Given the description of an element on the screen output the (x, y) to click on. 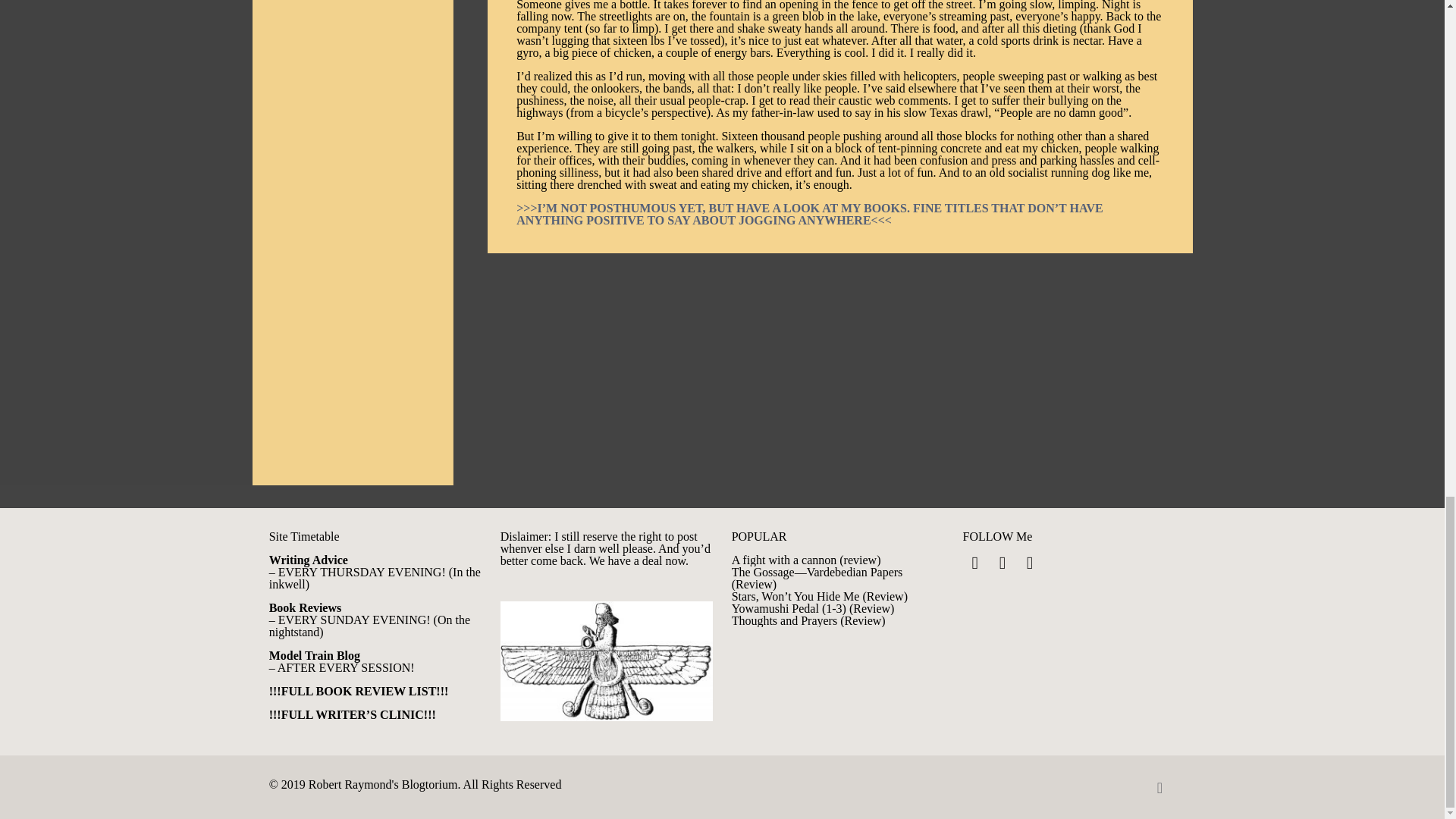
!!!FULL BOOK REVIEW LIST!!! (358, 690)
Model Train Blog (314, 655)
Writing Advice (308, 559)
Book Reviews (305, 607)
